Given the description of an element on the screen output the (x, y) to click on. 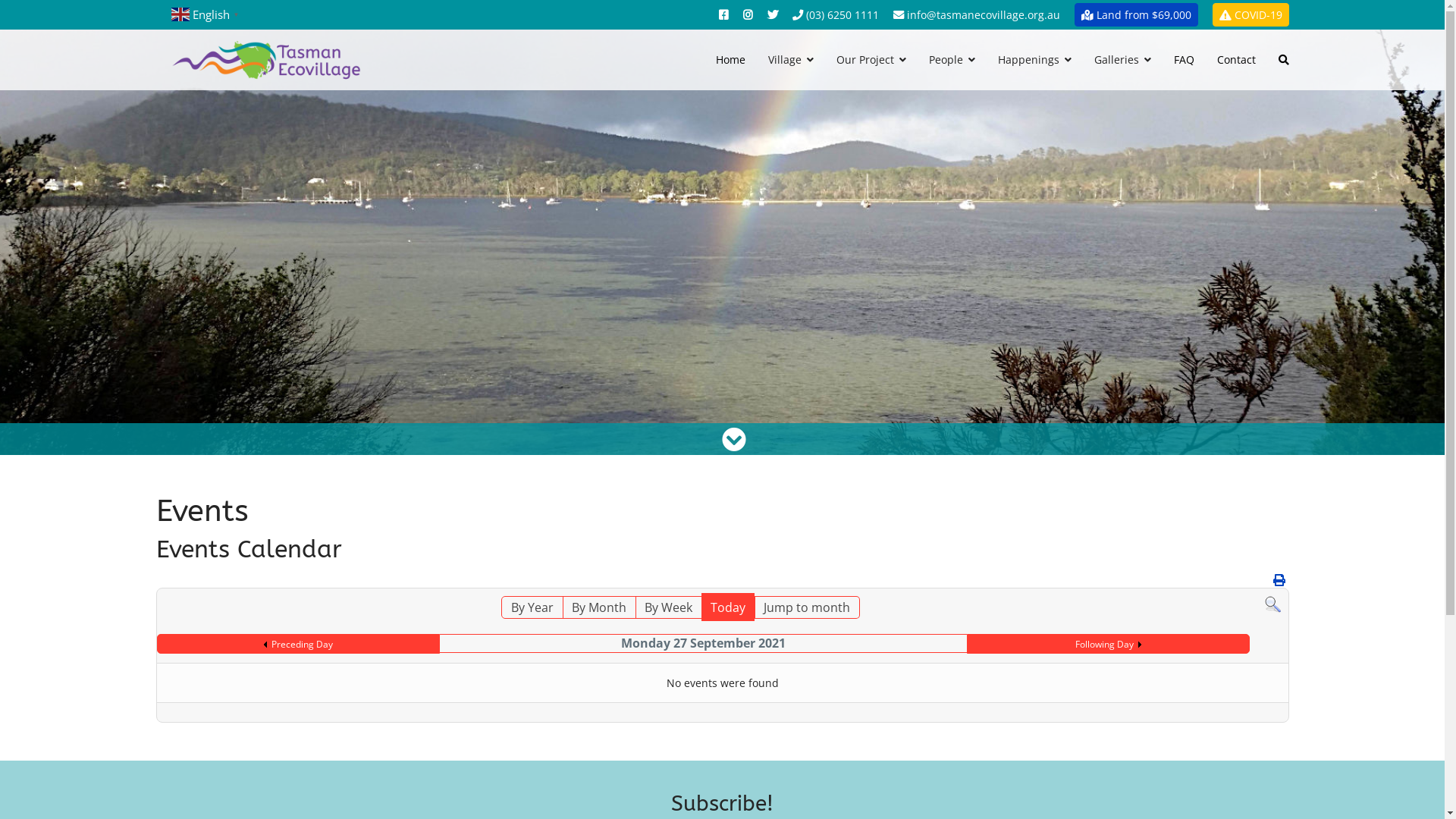
Today Element type: text (727, 607)
FAQ Element type: text (1182, 59)
Following Day Element type: text (1108, 643)
COVID-19 Element type: text (1249, 14)
info@tasmanecovillage.org.au Element type: text (976, 14)
Twitter Element type: hover (772, 14)
Print Element type: hover (1278, 579)
Land from $69,000 Element type: text (1135, 14)
Preceding Day Element type: text (297, 643)
Contact Us Element type: hover (898, 14)
Facebook Element type: hover (723, 14)
Search Element type: hover (1272, 604)
Phone Us Element type: hover (796, 14)
By Week Element type: text (668, 607)
Instagram Element type: hover (748, 14)
By Month Element type: text (598, 607)
Home Element type: text (729, 59)
Jump to month Element type: text (806, 607)
Contact Element type: text (1236, 59)
By Year Element type: text (532, 607)
(03) 6250 1111 Element type: text (834, 14)
